Given the description of an element on the screen output the (x, y) to click on. 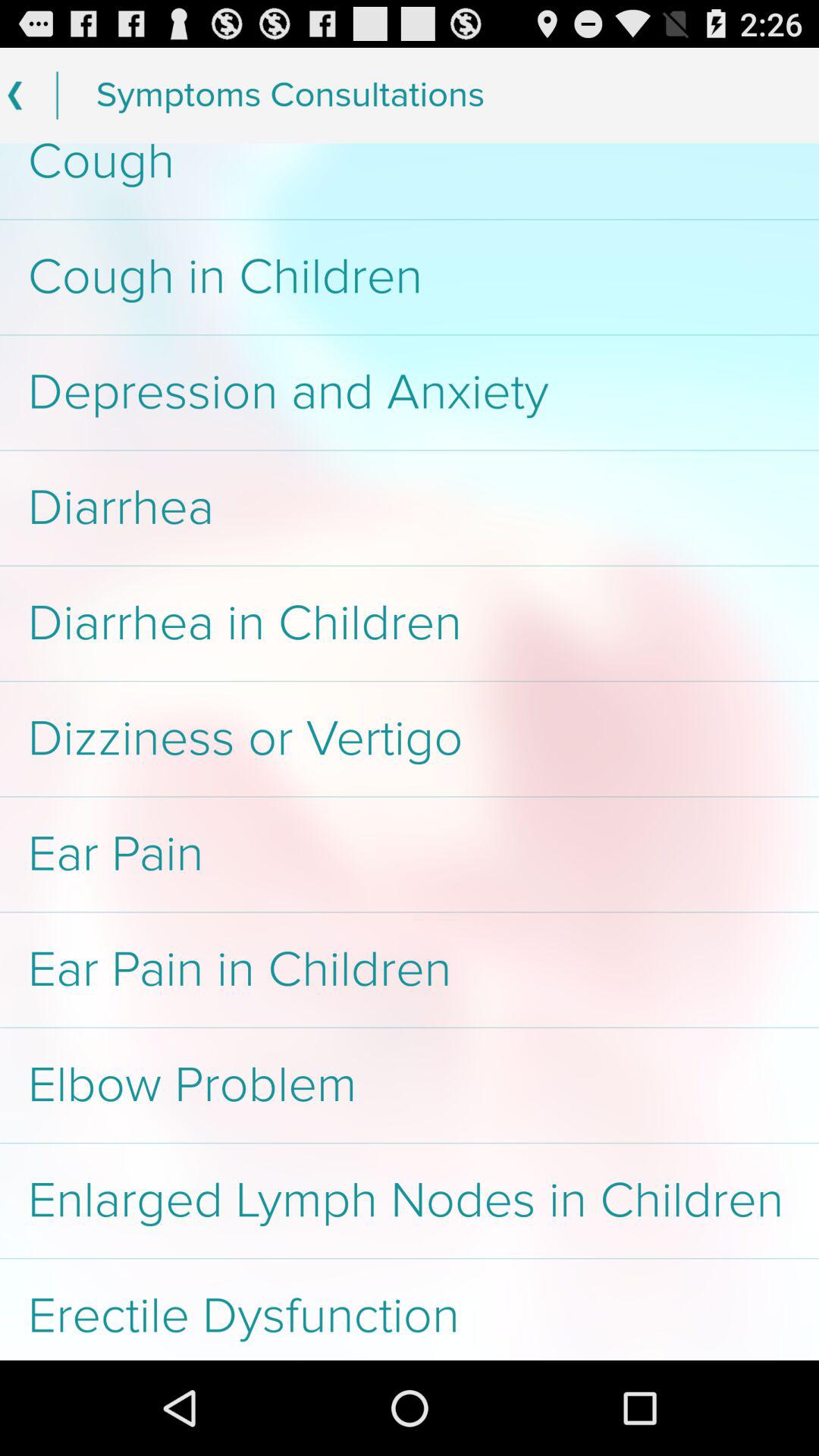
scroll until the enlarged lymph nodes icon (409, 1200)
